Given the description of an element on the screen output the (x, y) to click on. 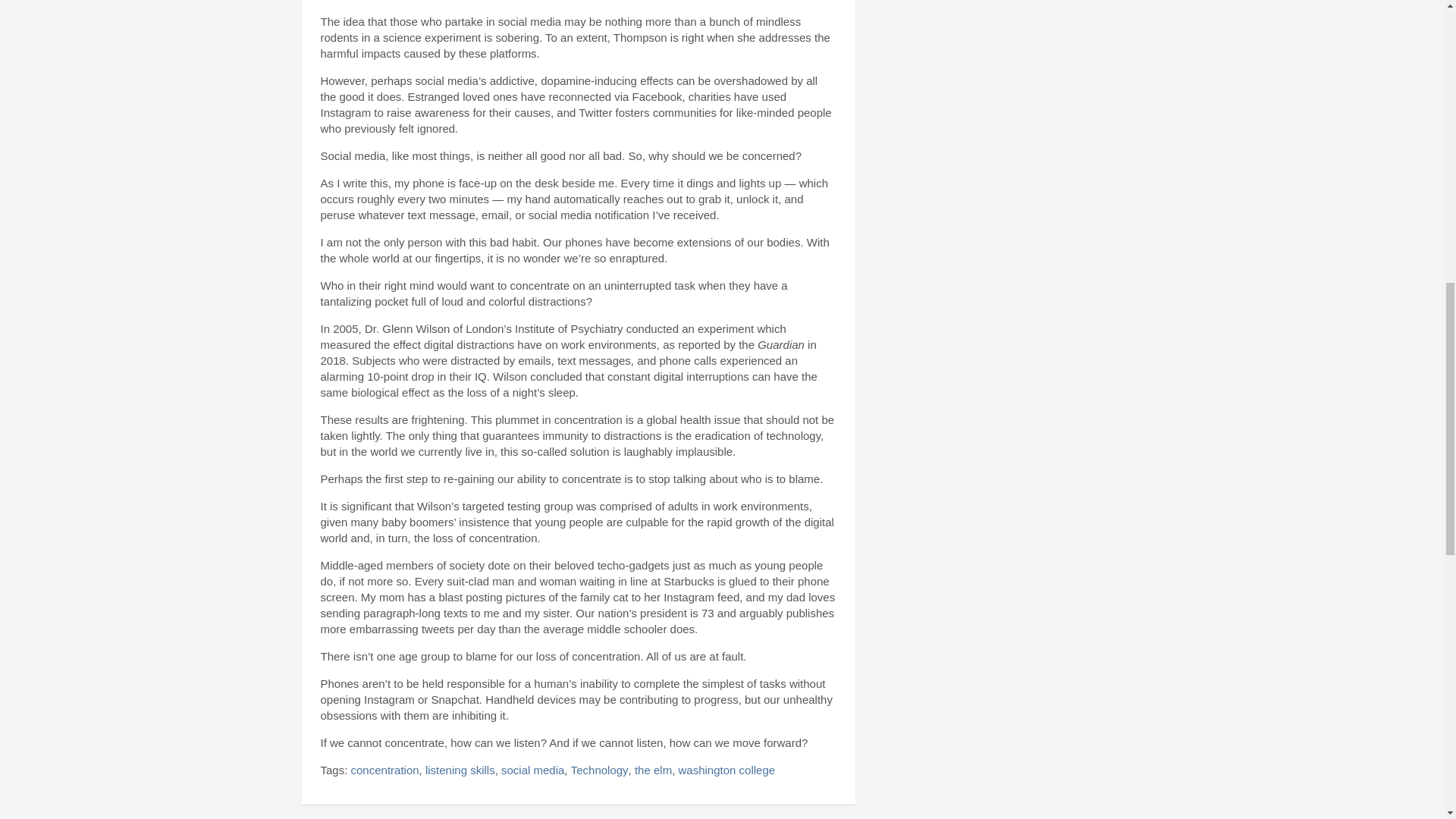
washington college (726, 770)
social media (532, 770)
the elm (652, 770)
concentration (384, 770)
listening skills (460, 770)
Technology (599, 770)
